Given the description of an element on the screen output the (x, y) to click on. 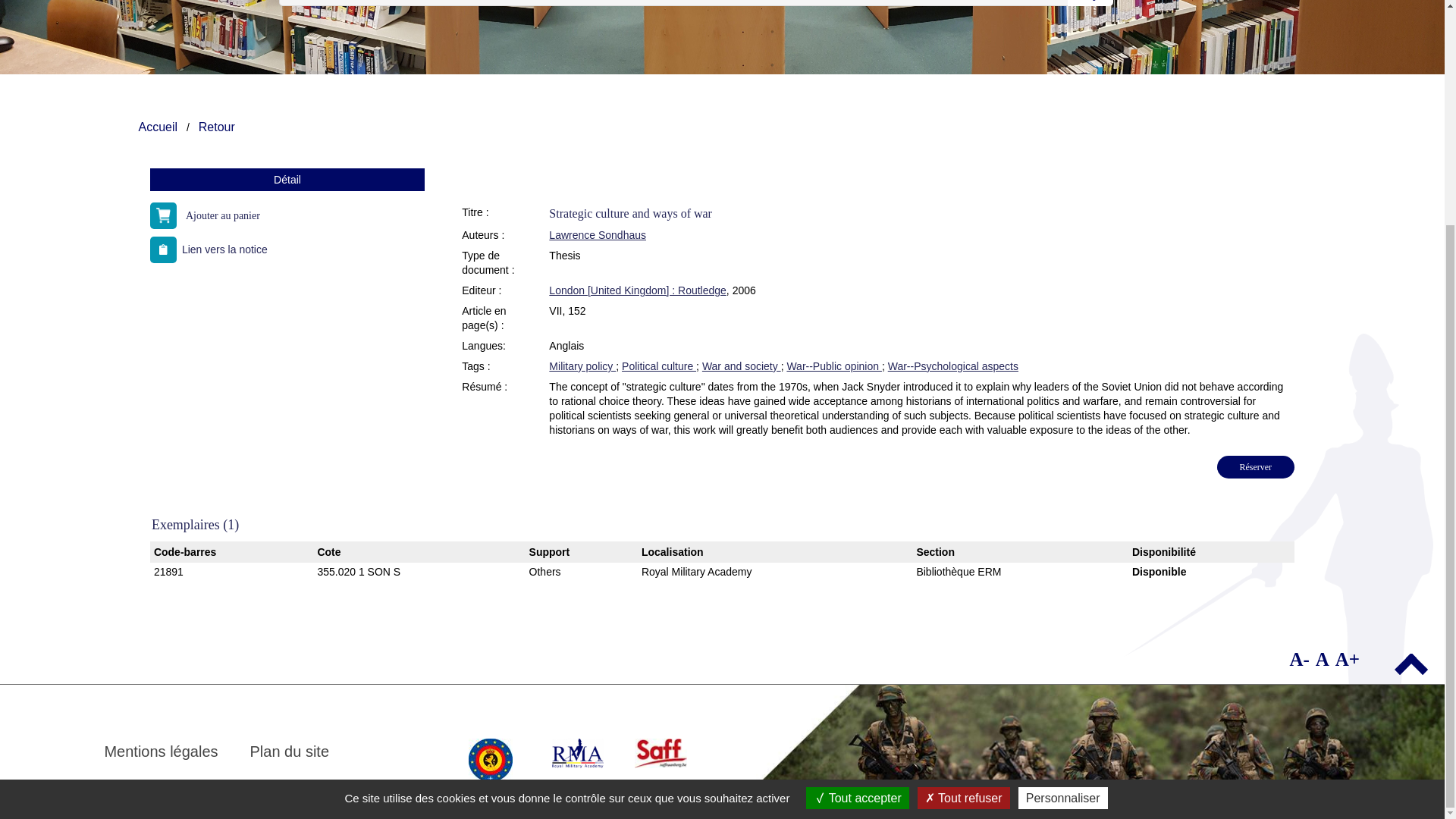
Rechercher (1090, 2)
